Given the description of an element on the screen output the (x, y) to click on. 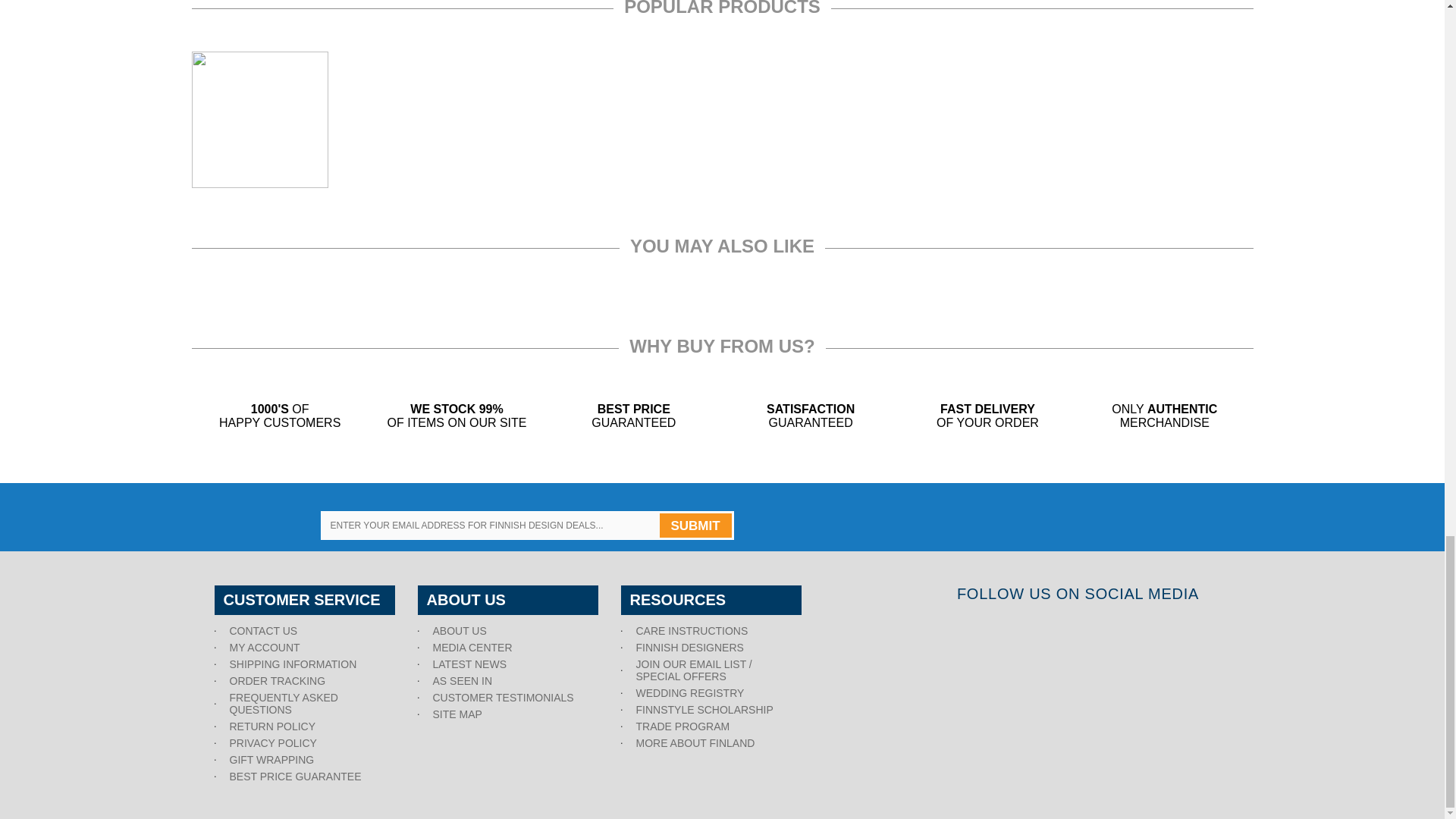
SUBMIT (695, 525)
